Given the description of an element on the screen output the (x, y) to click on. 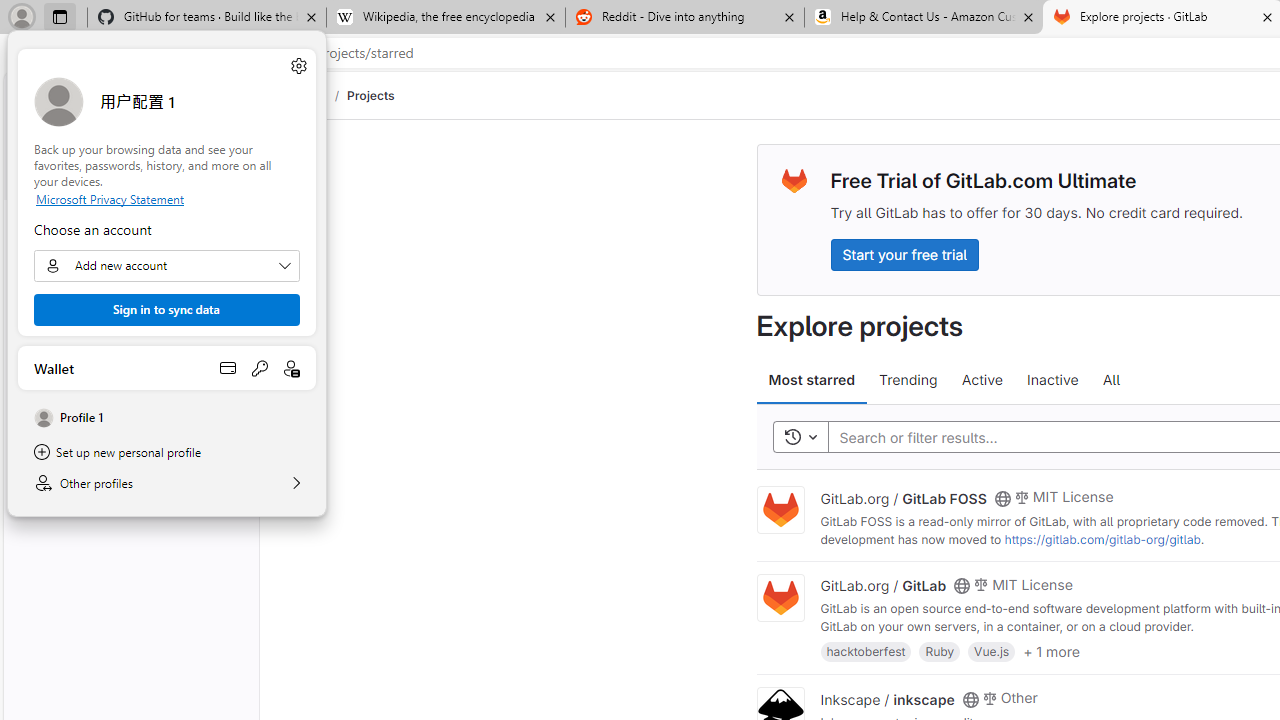
Inkscape / inkscape (887, 698)
https://gitlab.com/gitlab-org/gitlab (1101, 539)
Other profiles (166, 483)
Vue.js (991, 650)
Active (982, 379)
Class: s14 gl-mr-2 (989, 696)
Trending (907, 379)
Choose an account (166, 265)
Class: s16 (970, 699)
GitLab.org / GitLab FOSS (903, 497)
Start your free trial (904, 254)
Toggle history (800, 437)
hacktoberfest (866, 650)
Open passwords (260, 367)
Manage profile settings (298, 65)
